Given the description of an element on the screen output the (x, y) to click on. 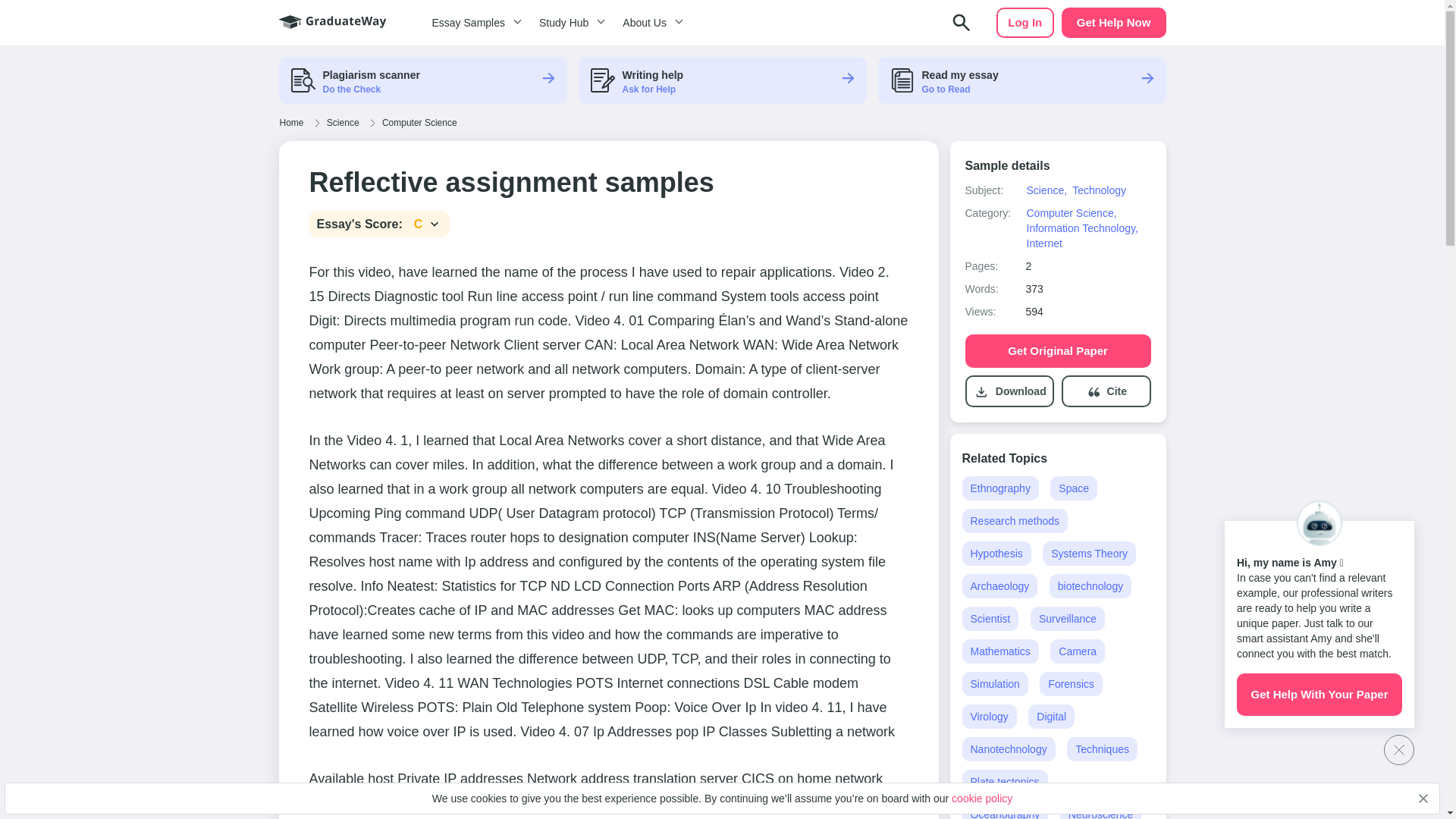
Science (342, 122)
Computer Science (419, 122)
Study Hub (569, 22)
Essay Samples (473, 22)
Technology (1098, 190)
Home (291, 122)
Computer Science, (1070, 213)
Science, (1046, 190)
About Us (649, 22)
Cite (1116, 391)
